Given the description of an element on the screen output the (x, y) to click on. 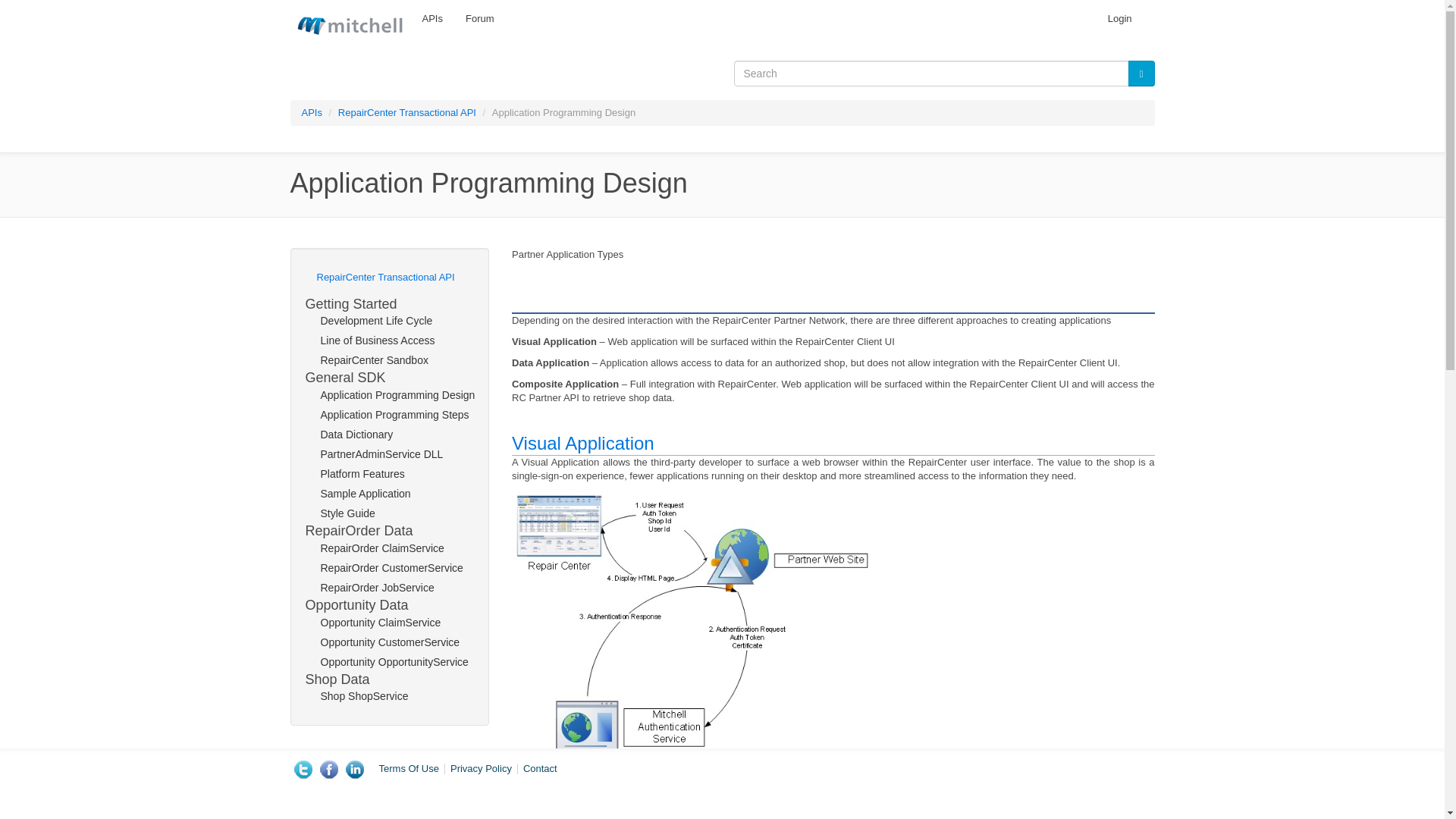
Development Life Cycle (389, 321)
APIs (432, 18)
RepairOrder CustomerService (389, 568)
RepairCenter Transactional API (389, 276)
Login (1119, 18)
RepairCenter Sandbox (389, 361)
Home (349, 22)
Application Programming Design (389, 395)
Shop ShopService (389, 696)
Search (24, 3)
Opportunity OpportunityService (389, 662)
RepairOrder JobService (389, 588)
Opportunity ClaimService (389, 623)
Visual Application (582, 443)
